Given the description of an element on the screen output the (x, y) to click on. 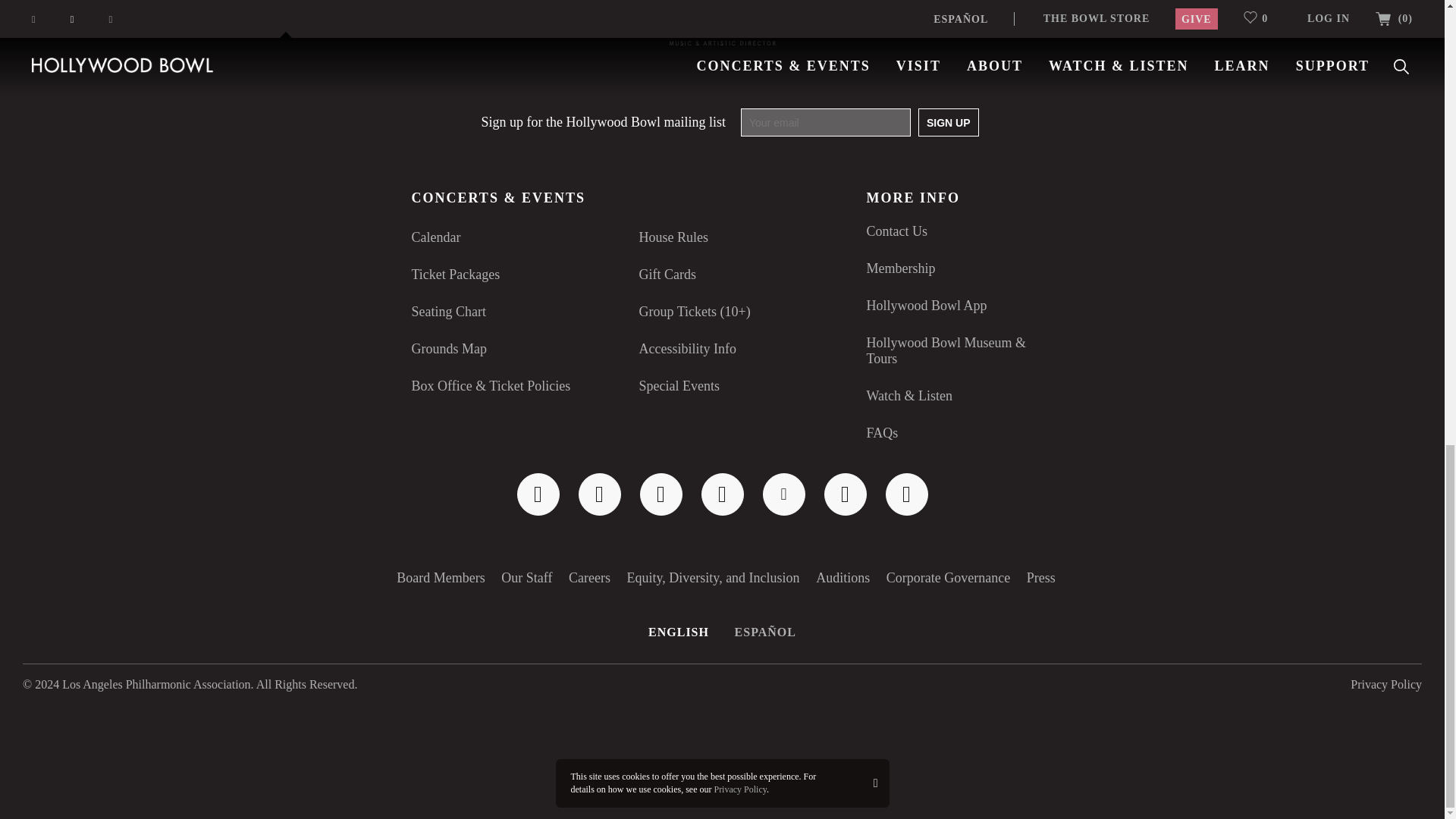
Sign Up (948, 122)
